Given the description of an element on the screen output the (x, y) to click on. 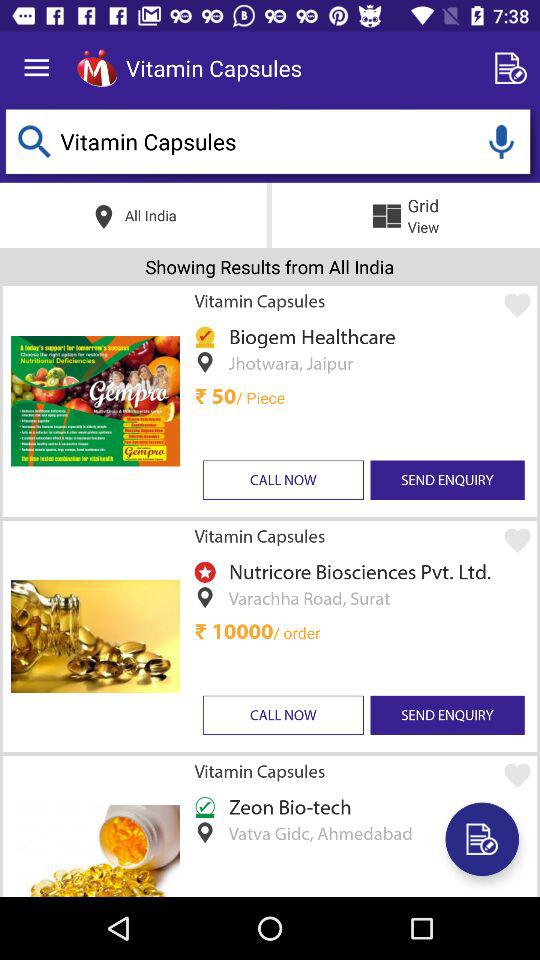
select the item below the vitamin capsules (356, 571)
